Given the description of an element on the screen output the (x, y) to click on. 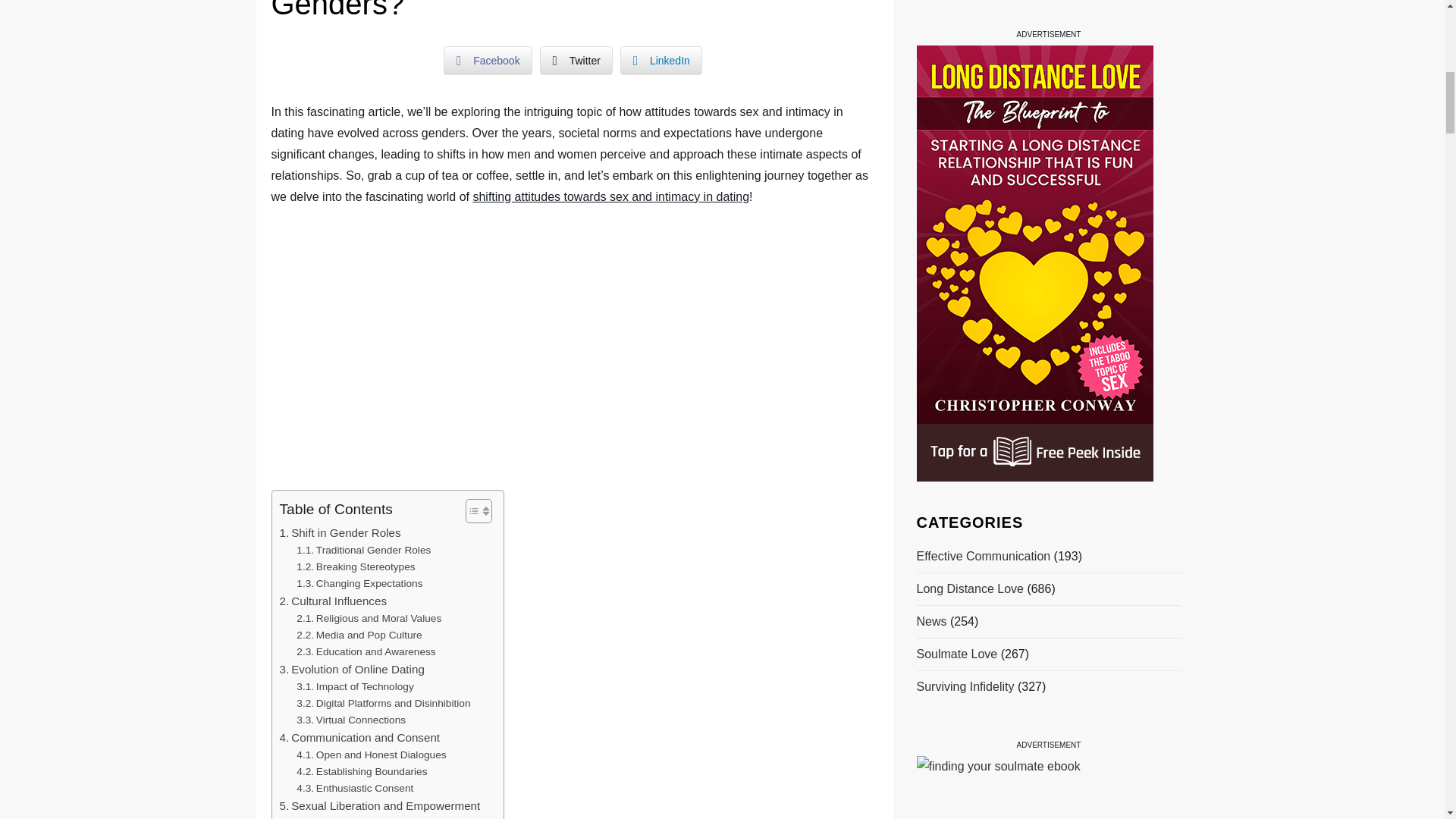
Embracing Sexual Freedom (370, 816)
Cultural Influences (333, 601)
Changing Expectations (359, 583)
Twitter (576, 60)
Evolution of Online Dating (351, 669)
Traditional Gender Roles (363, 550)
Establishing Boundaries (361, 771)
Open and Honest Dialogues (371, 754)
Traditional Gender Roles (363, 550)
Enthusiastic Consent (355, 788)
Education and Awareness (366, 651)
Religious and Moral Values (369, 618)
Shift in Gender Roles (339, 533)
Evolution of Online Dating (351, 669)
Digital Platforms and Disinhibition (383, 703)
